Given the description of an element on the screen output the (x, y) to click on. 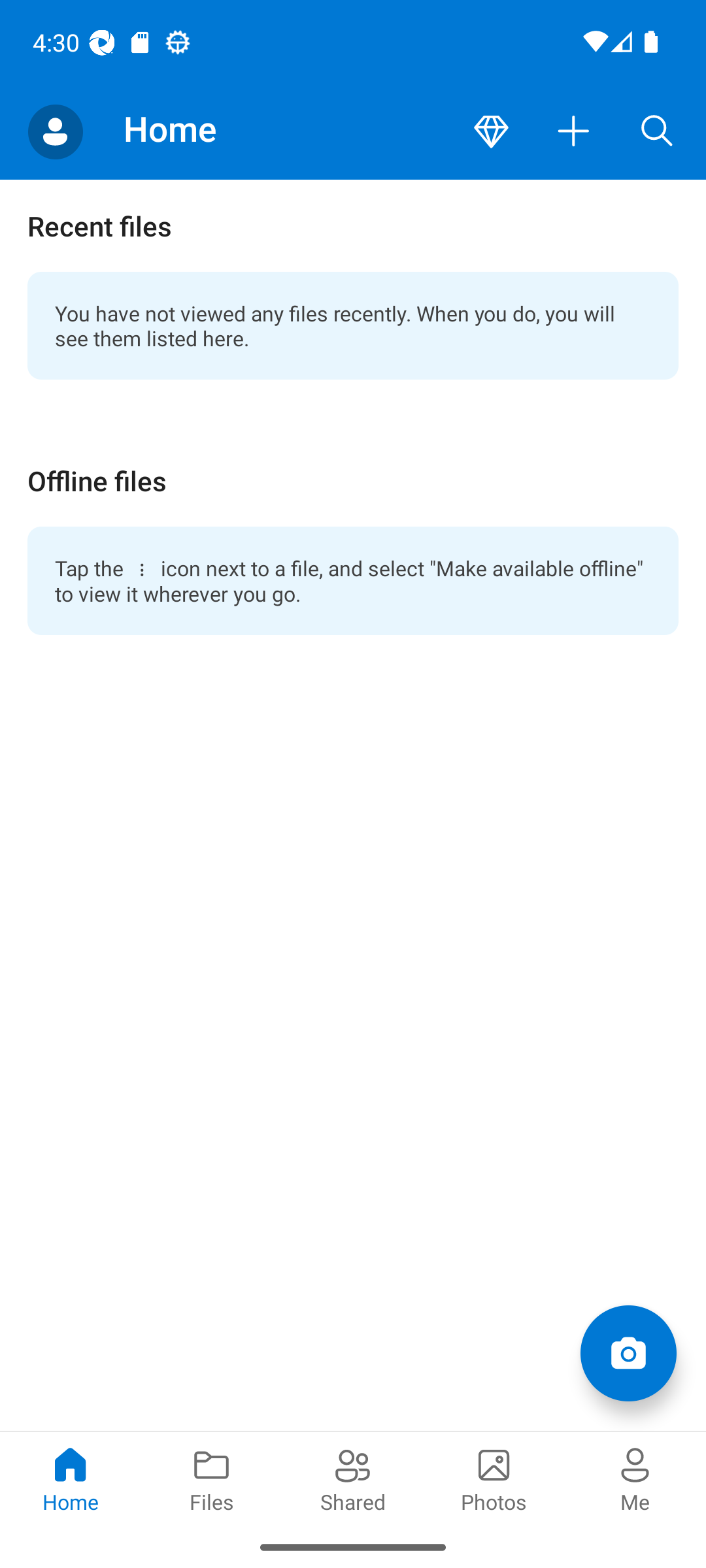
Account switcher (55, 131)
Premium button (491, 131)
More actions button (574, 131)
Search button (656, 131)
Scan (628, 1352)
Files pivot Files (211, 1478)
Shared pivot Shared (352, 1478)
Photos pivot Photos (493, 1478)
Me pivot Me (635, 1478)
